Given the description of an element on the screen output the (x, y) to click on. 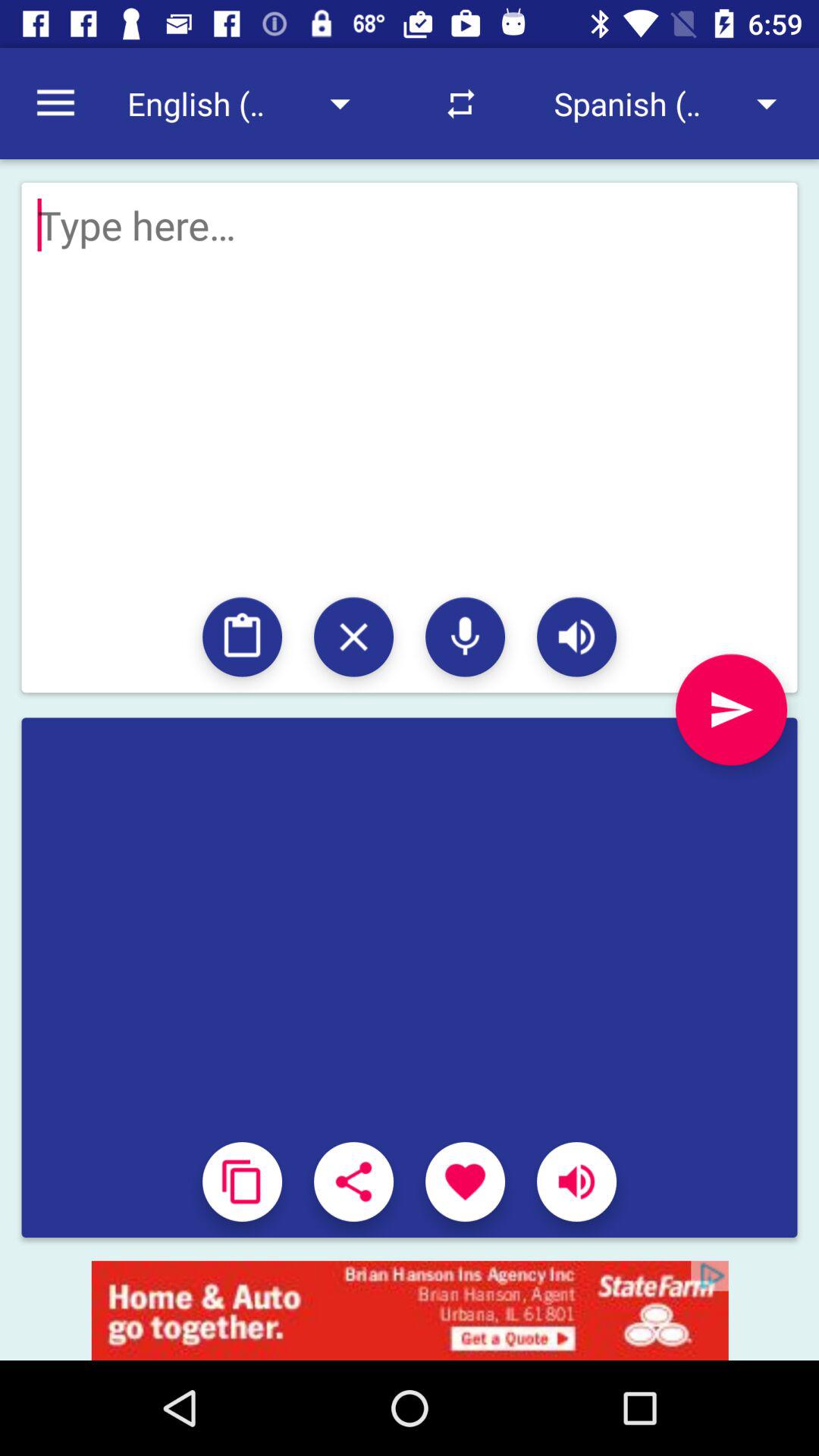
paste from clipboard (242, 636)
